Given the description of an element on the screen output the (x, y) to click on. 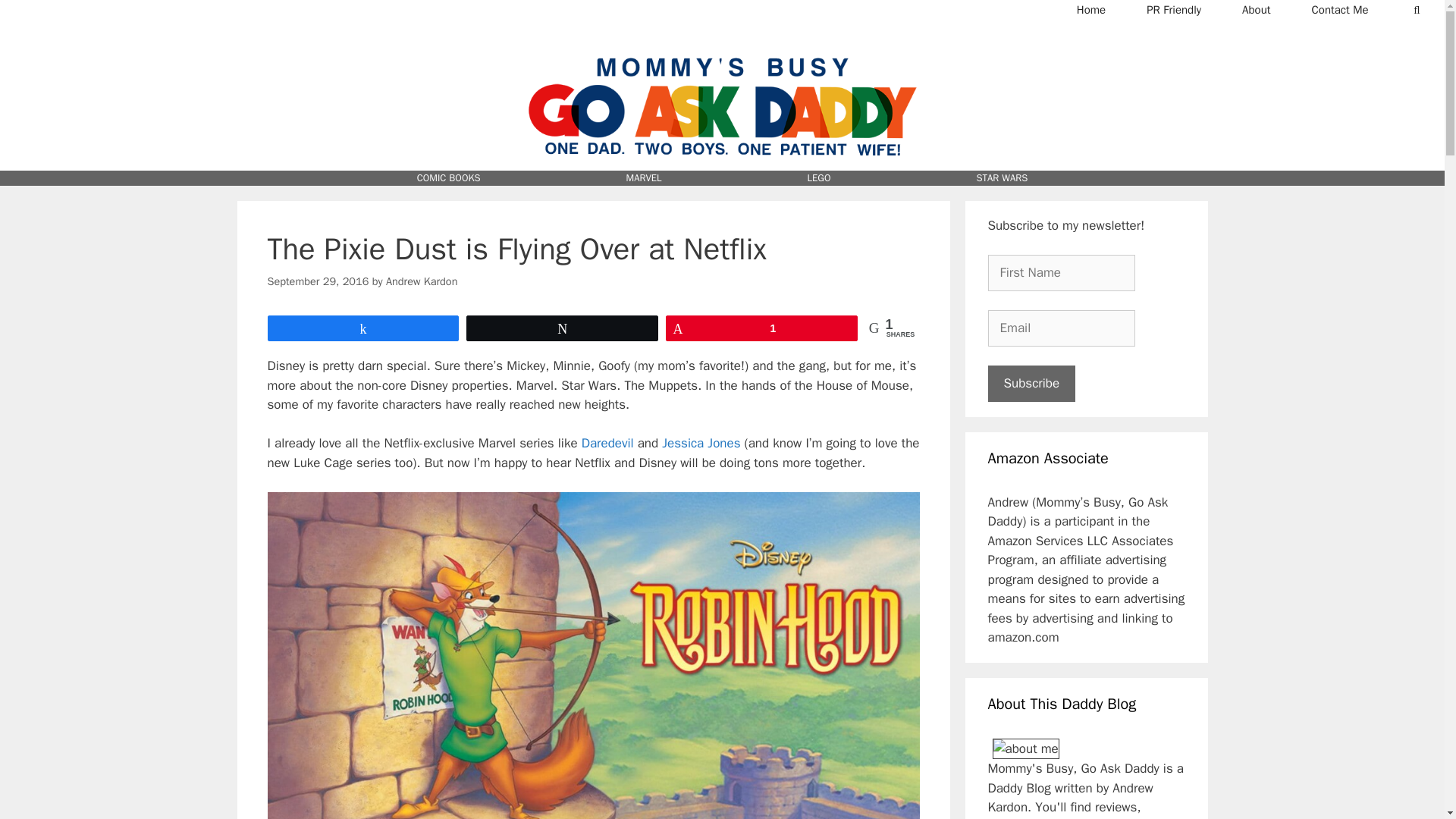
1 (761, 327)
Home (1091, 9)
STAR WARS (1002, 177)
Jessica Jones (700, 442)
View all posts by Andrew Kardon (421, 281)
MommysBusy.com (722, 44)
Daredevil (606, 442)
COMIC BOOKS (448, 177)
Contact Me (1340, 9)
LEGO (819, 177)
